Given the description of an element on the screen output the (x, y) to click on. 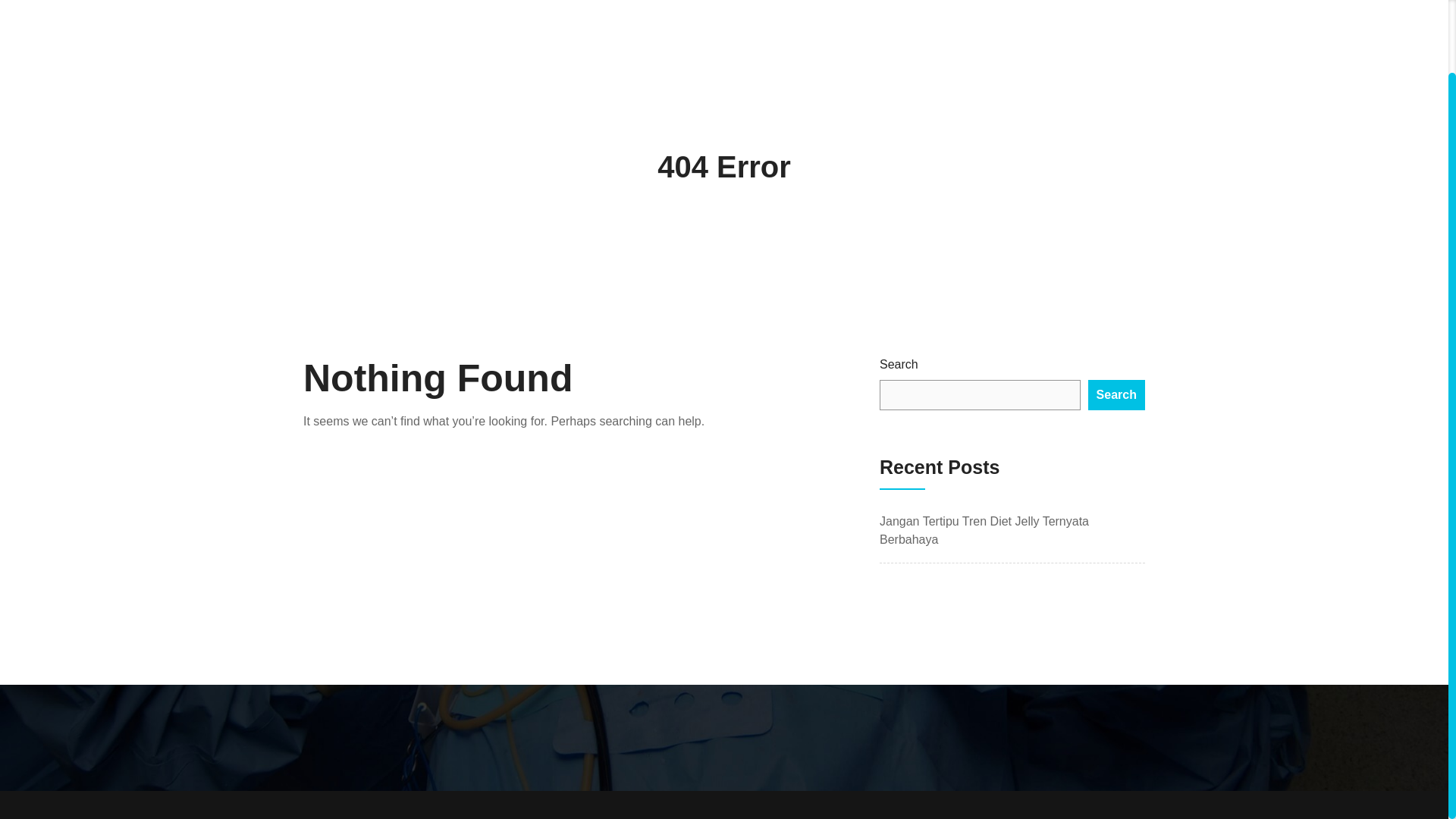
Jangan Tertipu Tren Diet Jelly Ternyata Berbahaya (984, 530)
Contact Us (969, 3)
Privacy Policy (1073, 3)
Home (805, 3)
About Us (880, 3)
Search (1115, 395)
